Given the description of an element on the screen output the (x, y) to click on. 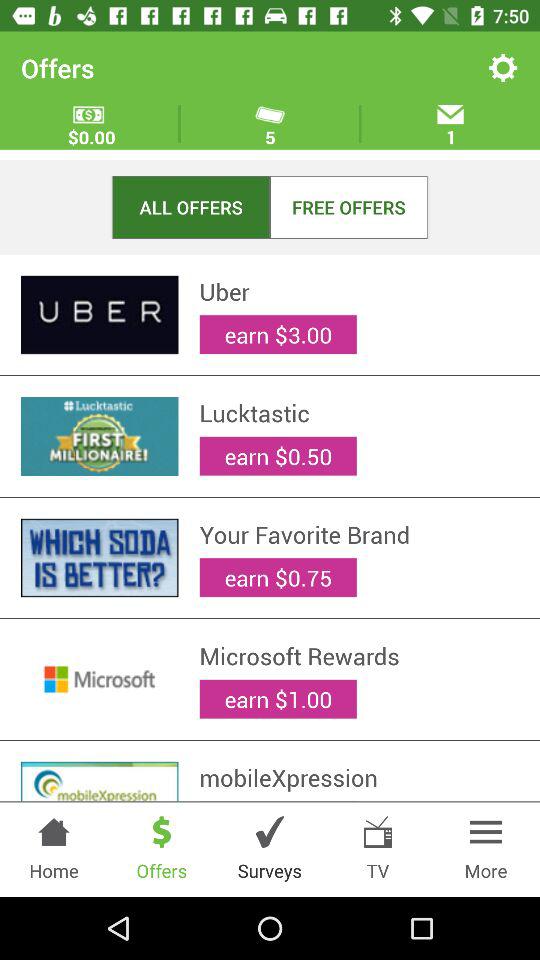
tap the icon above earn $3.00 icon (359, 777)
